Given the description of an element on the screen output the (x, y) to click on. 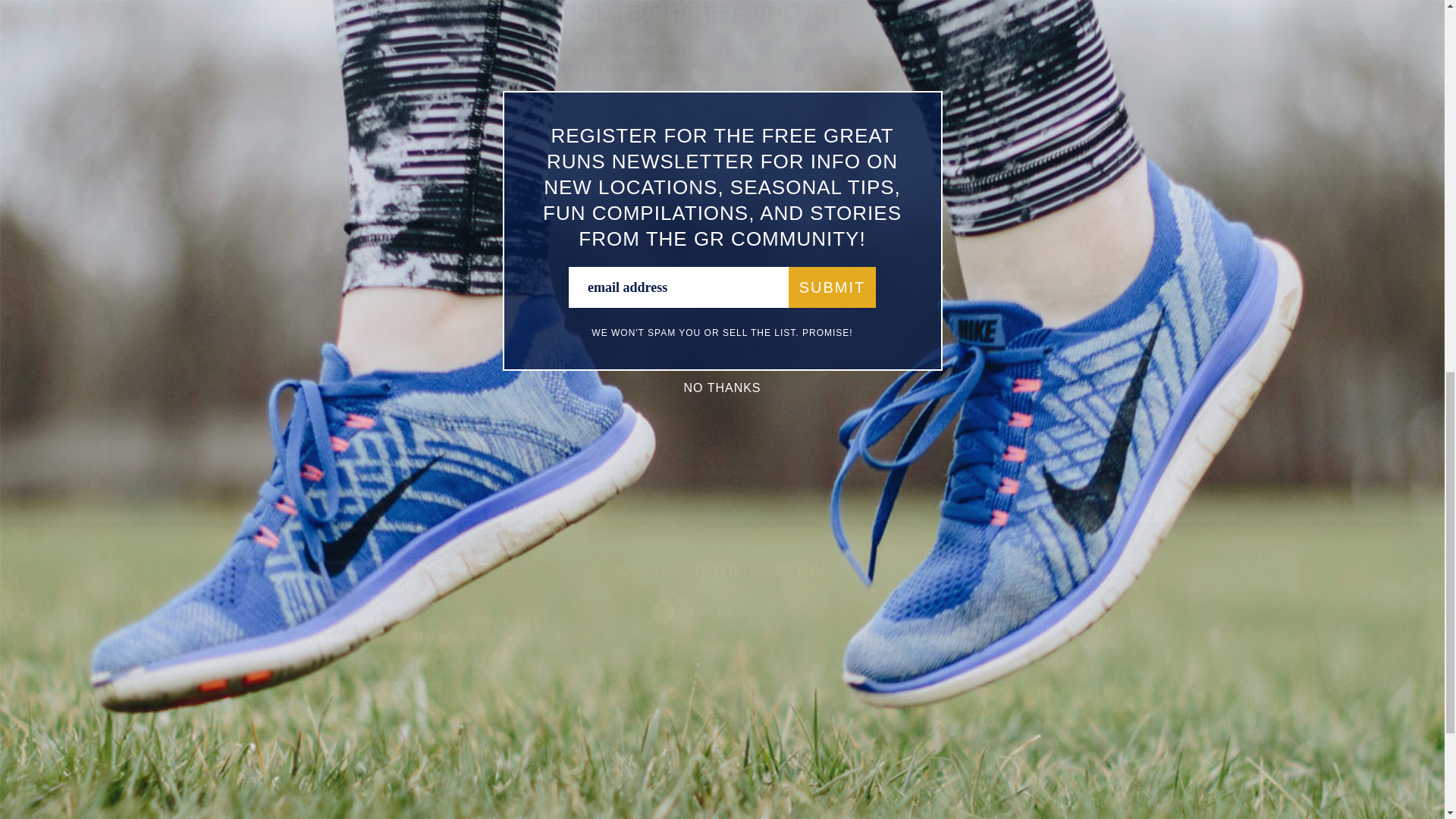
Underline (382, 203)
Blockquote (467, 203)
Spoiler (550, 203)
Bold (339, 203)
Italic (360, 203)
Strike (403, 203)
Link (509, 203)
Code Block (488, 203)
Ordered List (424, 203)
Unordered List (446, 203)
Submit (479, 700)
Source Code (528, 203)
